Given the description of an element on the screen output the (x, y) to click on. 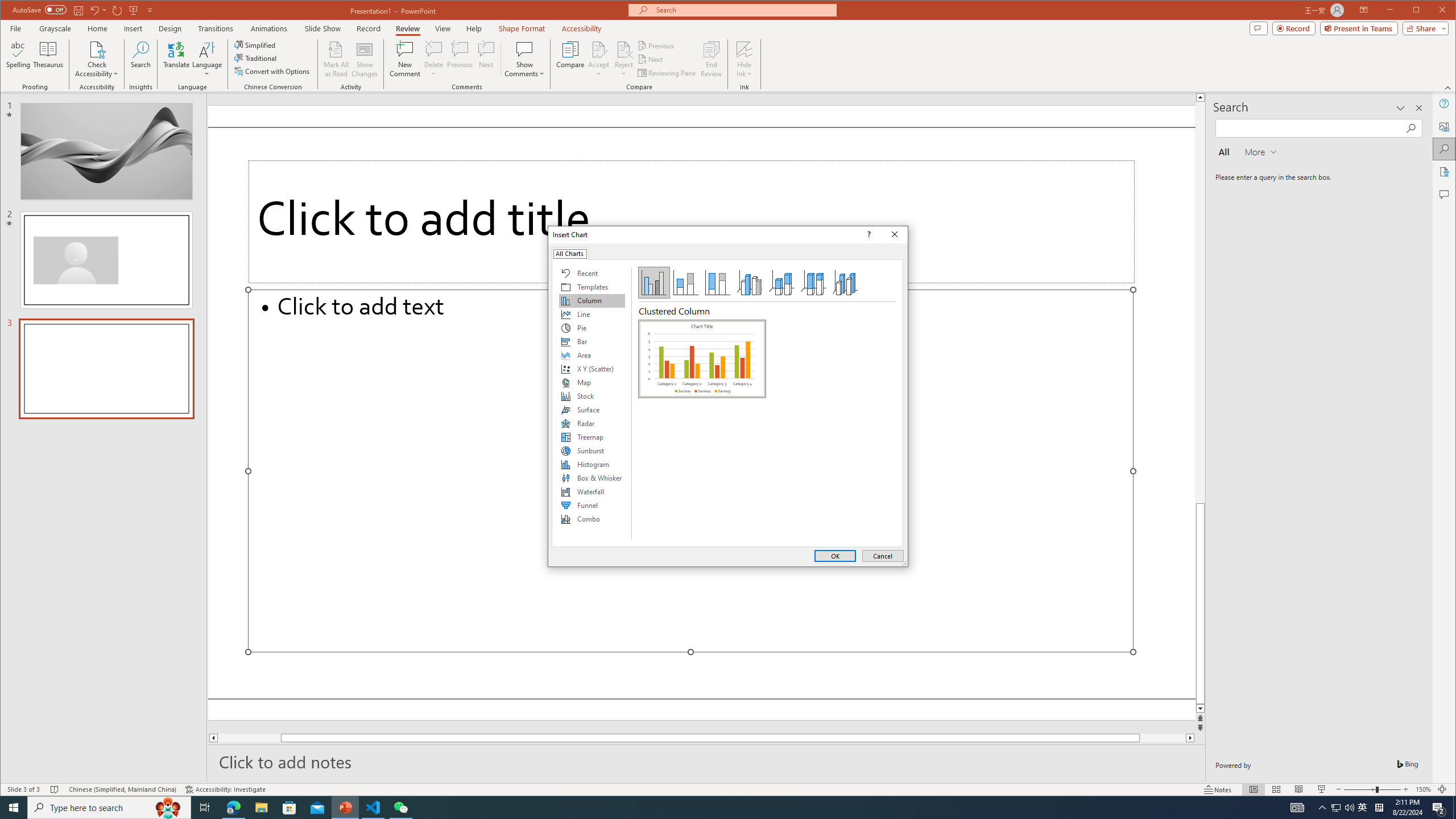
3-D Column (844, 282)
